Given the description of an element on the screen output the (x, y) to click on. 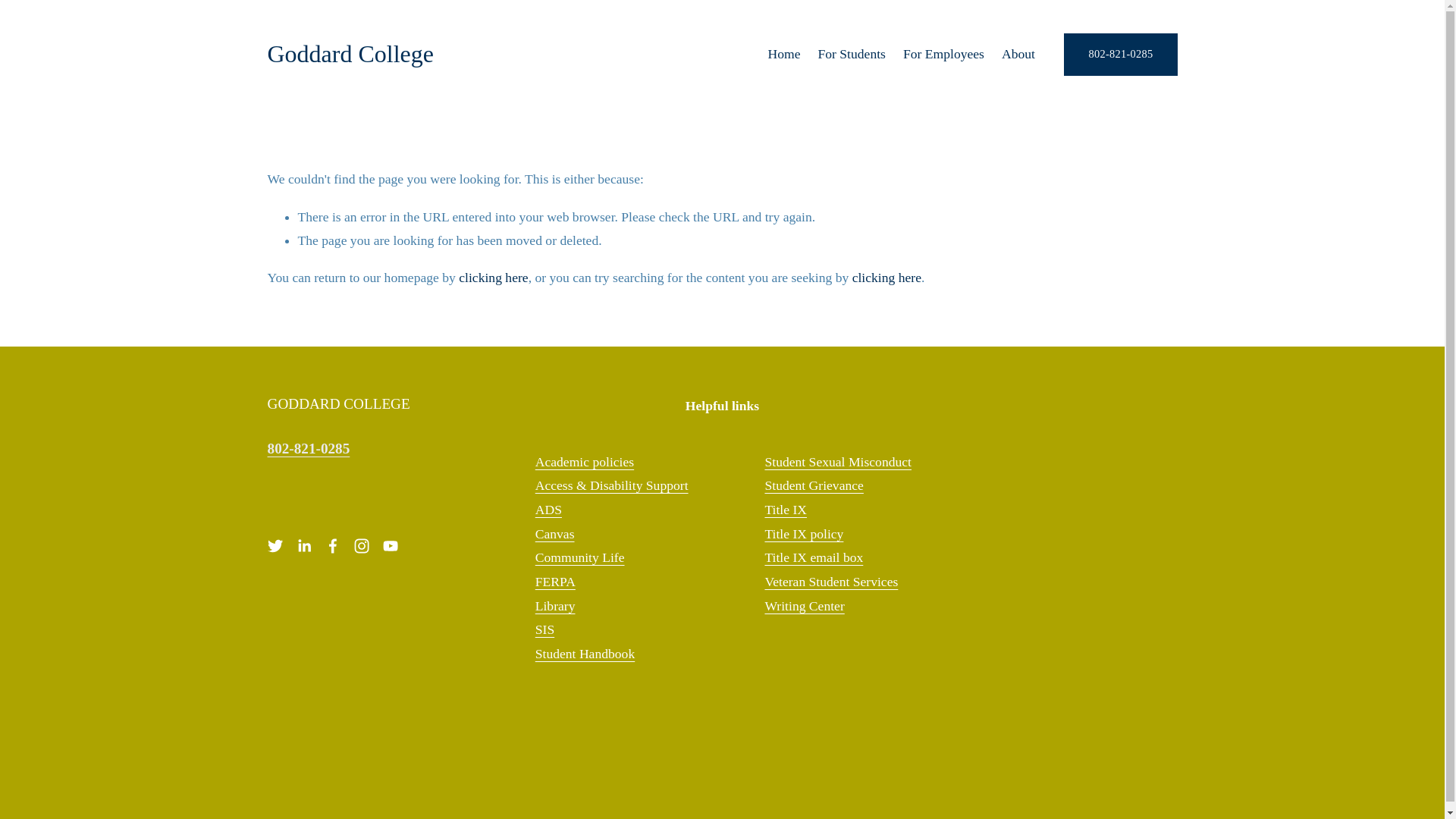
Student Sexual Misconduct (837, 462)
For Students (850, 53)
ADS (548, 509)
clicking here (886, 277)
Title IX (785, 509)
Canvas (555, 534)
Student Handbook (584, 654)
For Employees (943, 53)
802-821-0285 (1120, 54)
FERPA (555, 582)
Community Life (579, 558)
About (1018, 53)
Home (783, 53)
Library (555, 606)
Goddard College (349, 53)
